Given the description of an element on the screen output the (x, y) to click on. 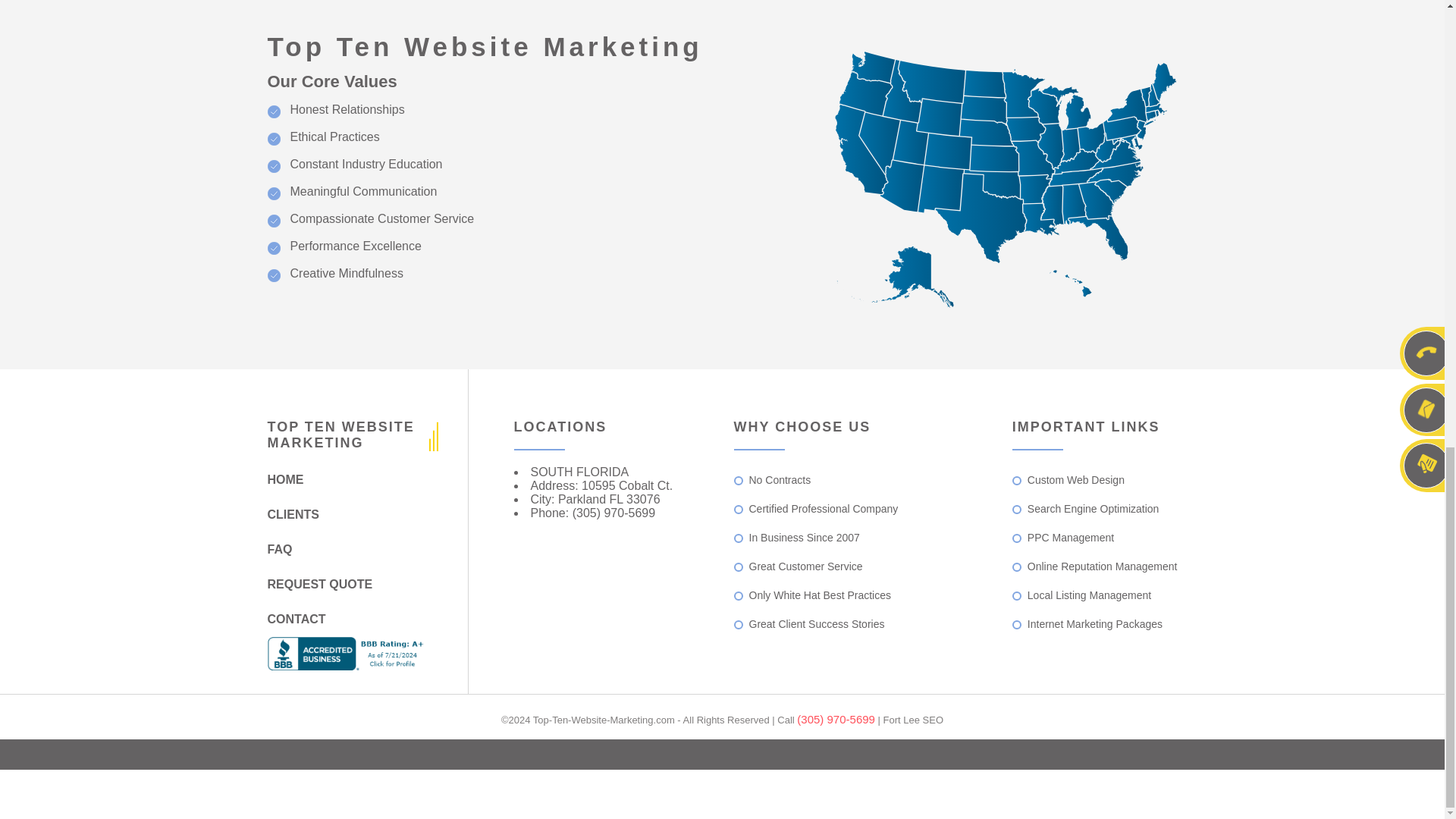
HOME (347, 479)
